Given the description of an element on the screen output the (x, y) to click on. 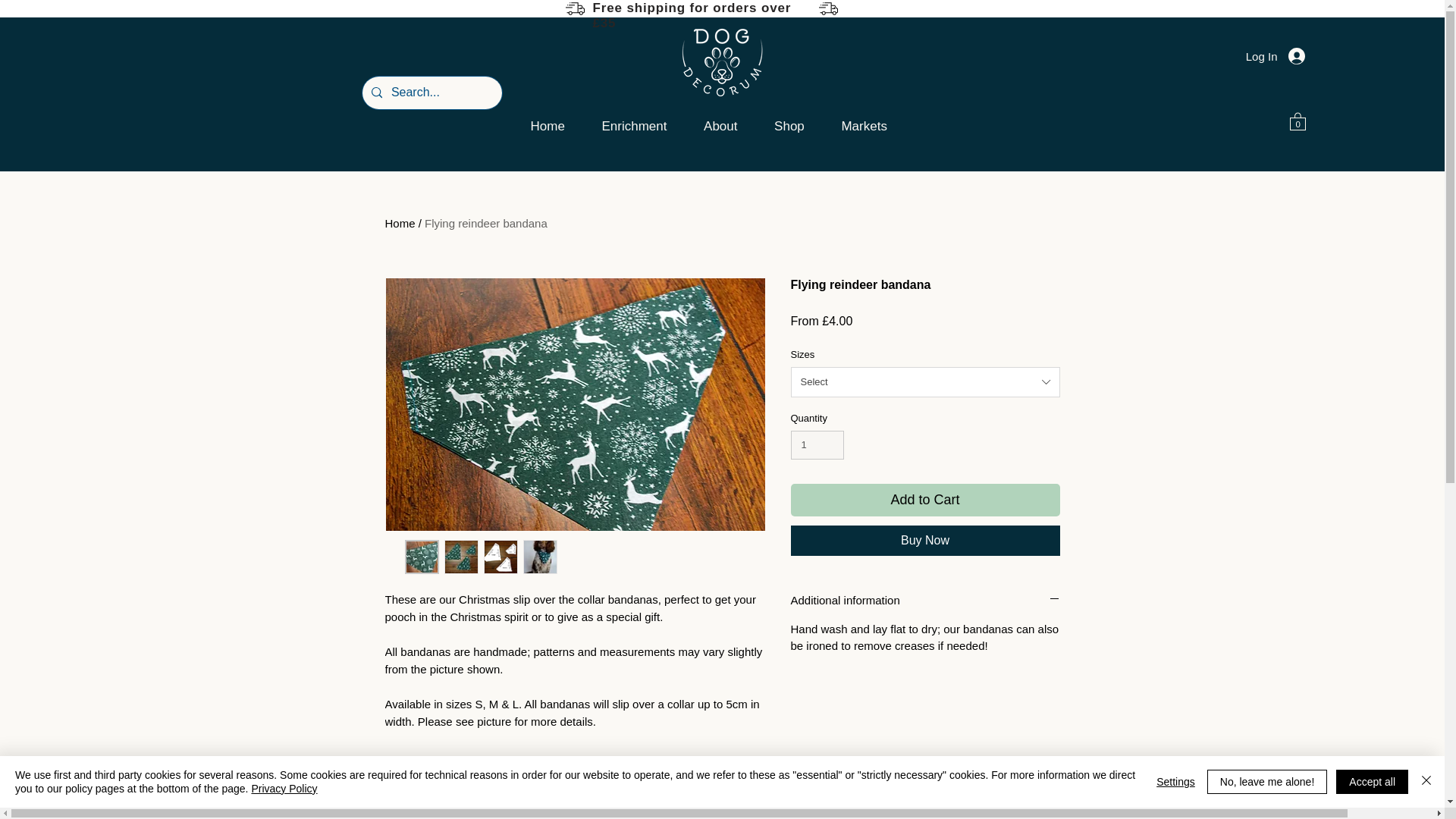
Flying reindeer bandana (486, 223)
Privacy Policy (283, 788)
Accept all (1371, 781)
Markets (876, 127)
1 (817, 444)
Log In (1275, 55)
Enrichment (647, 127)
Select (924, 381)
Home (561, 127)
Additional information (924, 600)
Shop (801, 127)
Buy Now (924, 540)
Home (399, 223)
About (732, 127)
Add to Cart (924, 500)
